Given the description of an element on the screen output the (x, y) to click on. 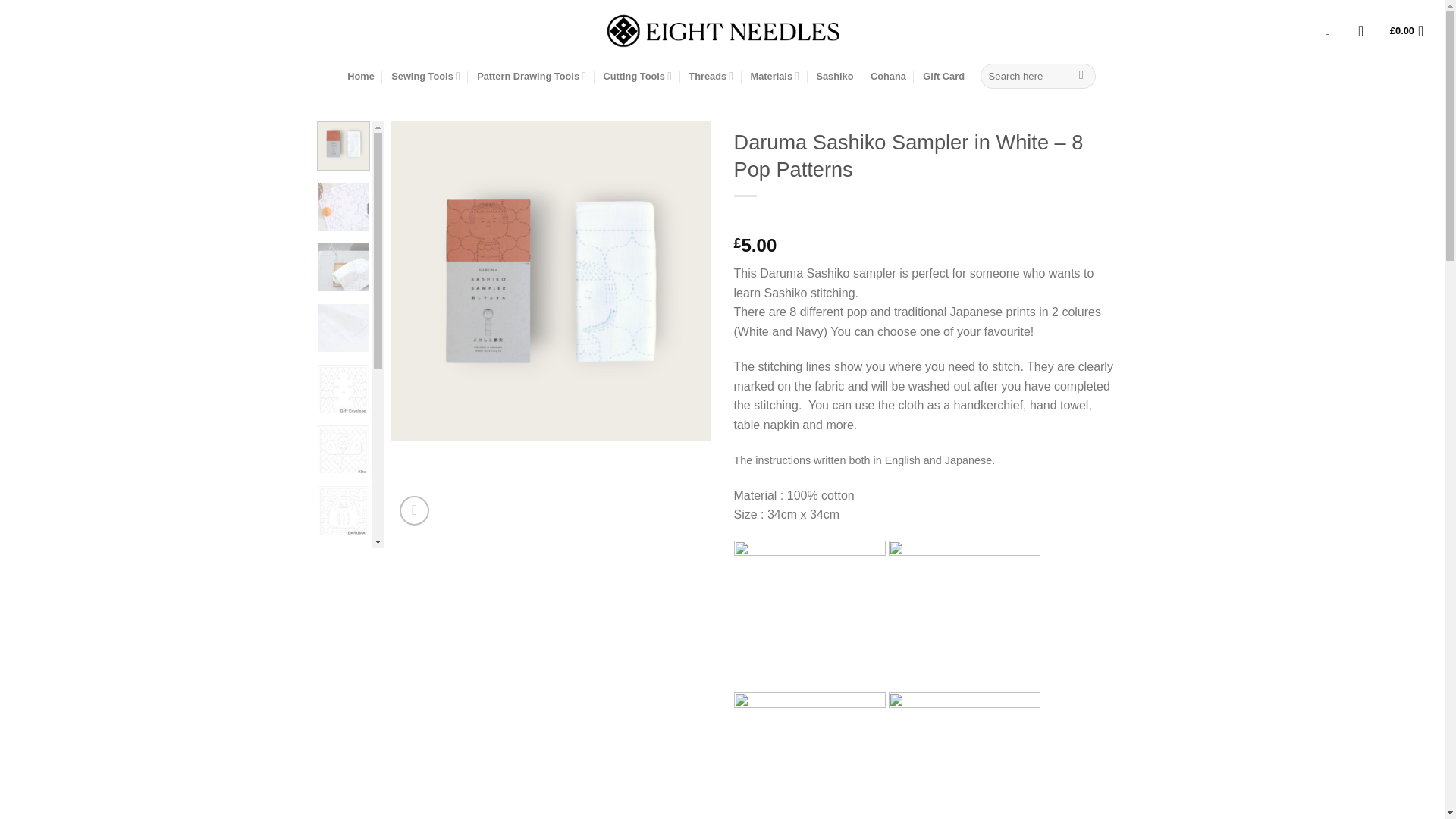
Basket (1411, 29)
Materials (775, 75)
Home (360, 76)
Sewing Tools (425, 75)
Eight Needles - By Studio Masachuka (721, 30)
Cutting Tools (636, 75)
Threads (710, 75)
Pattern Drawing Tools (531, 75)
